Given the description of an element on the screen output the (x, y) to click on. 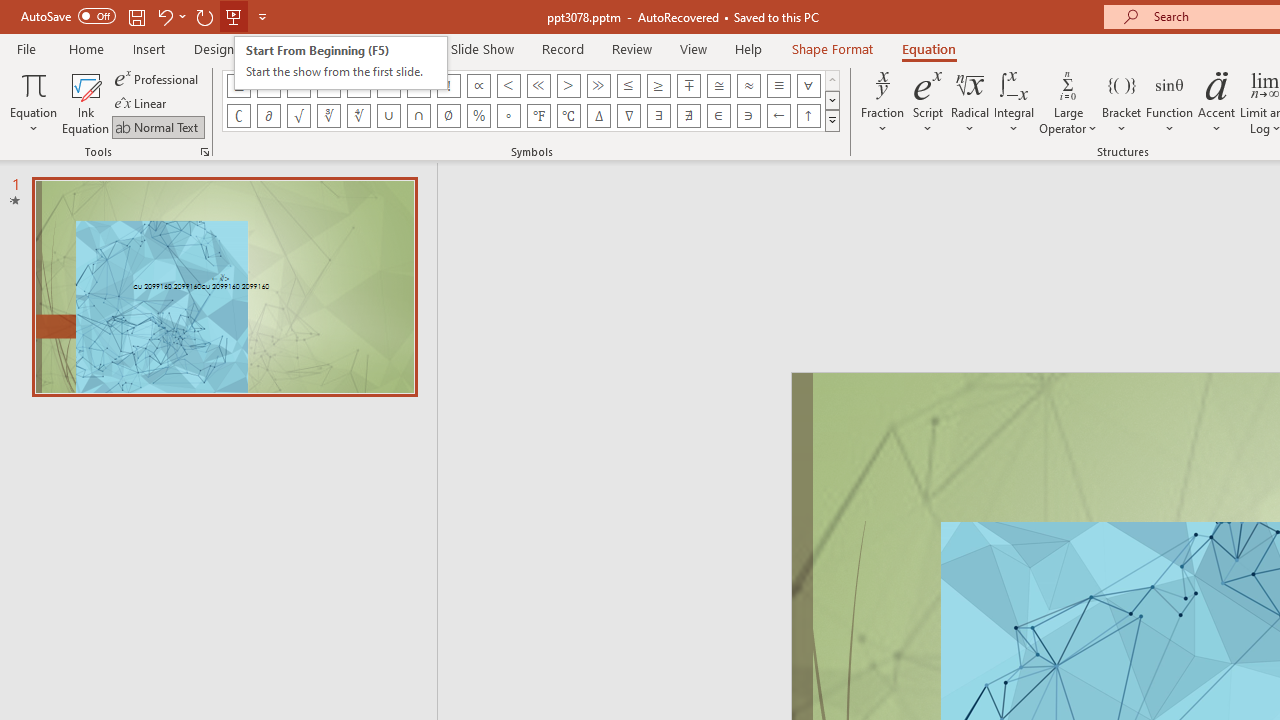
Equation Symbol Up Arrow (808, 115)
Equation Symbol Union (388, 115)
Script (927, 102)
Equation Symbol Less Than or Equal To (628, 85)
Equation Symbol Equal (298, 85)
Integral (1014, 102)
Equation Symbol Contains as Member (748, 115)
Equation Symbol Partial Differential (268, 115)
Equation Symbol Much Greater Than (598, 85)
Equation Symbol Intersection (418, 115)
